Given the description of an element on the screen output the (x, y) to click on. 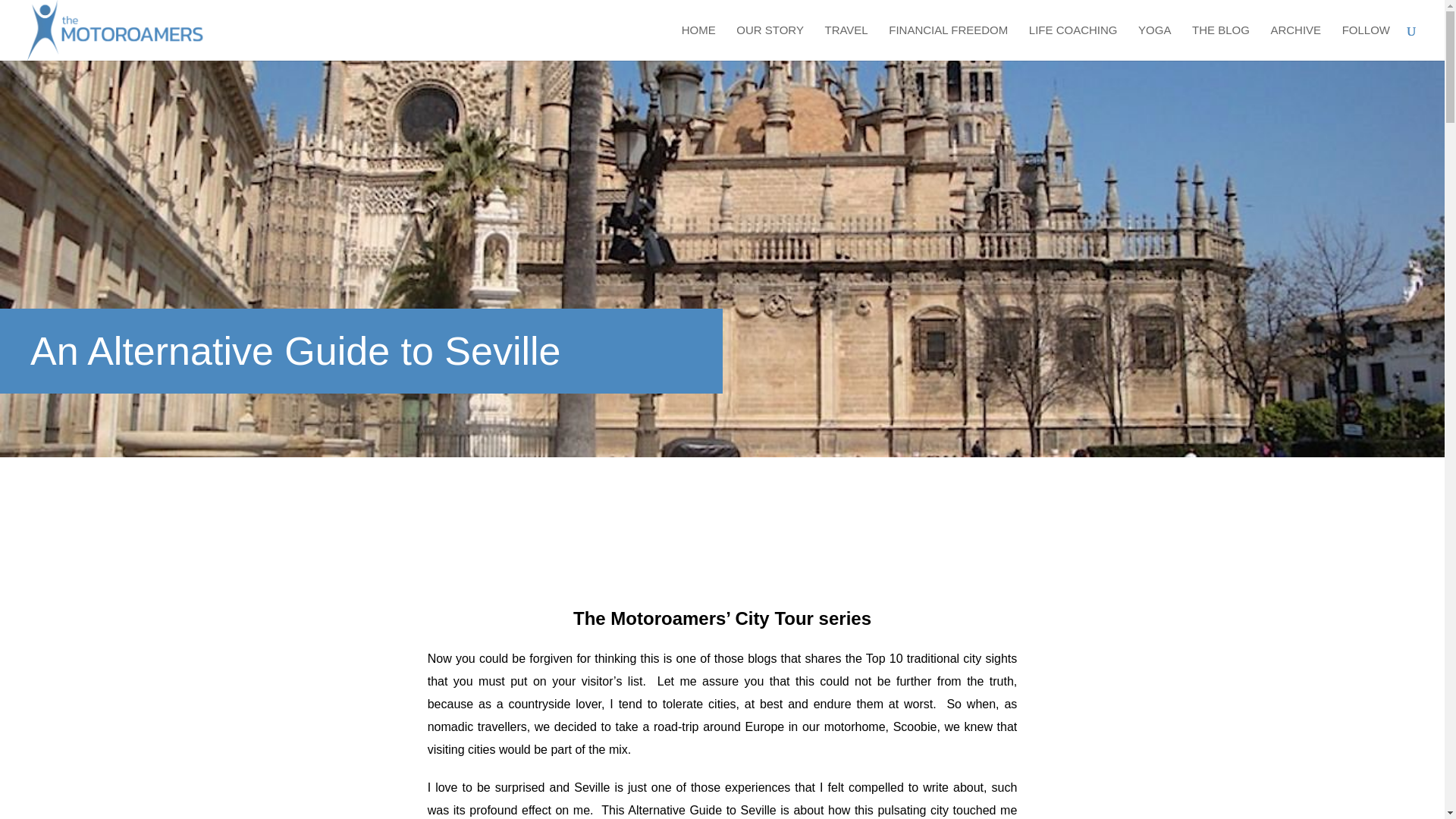
THE BLOG (1220, 42)
YOGA (1154, 42)
FOLLOW (1366, 42)
FINANCIAL FREEDOM (947, 42)
LIFE COACHING (1073, 42)
HOME (698, 42)
TRAVEL (845, 42)
OUR STORY (769, 42)
ARCHIVE (1294, 42)
